Given the description of an element on the screen output the (x, y) to click on. 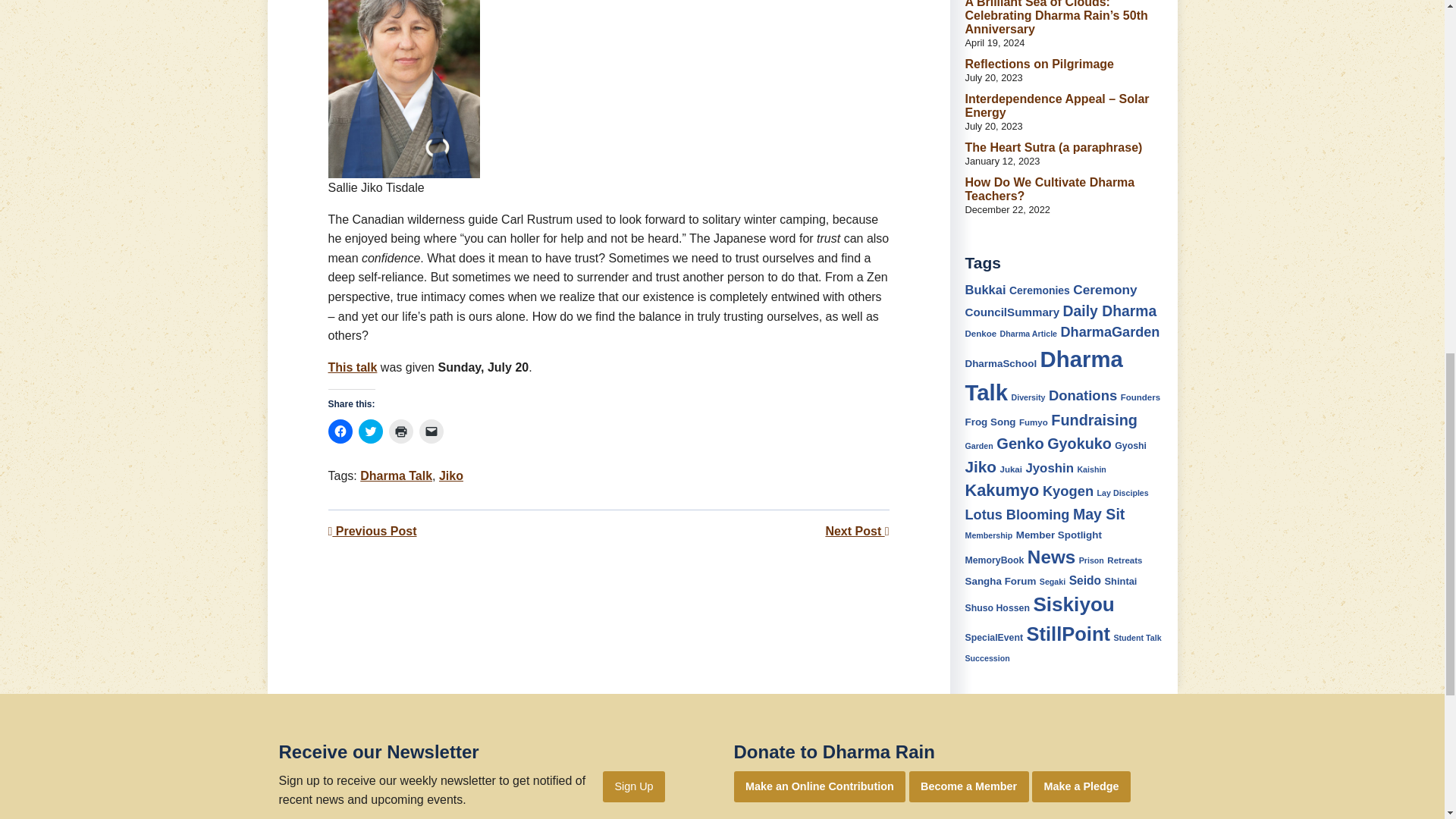
Click to share on Facebook (339, 431)
Click to share on Twitter (369, 431)
Click to print (400, 431)
Click to email a link to a friend (430, 431)
